Given the description of an element on the screen output the (x, y) to click on. 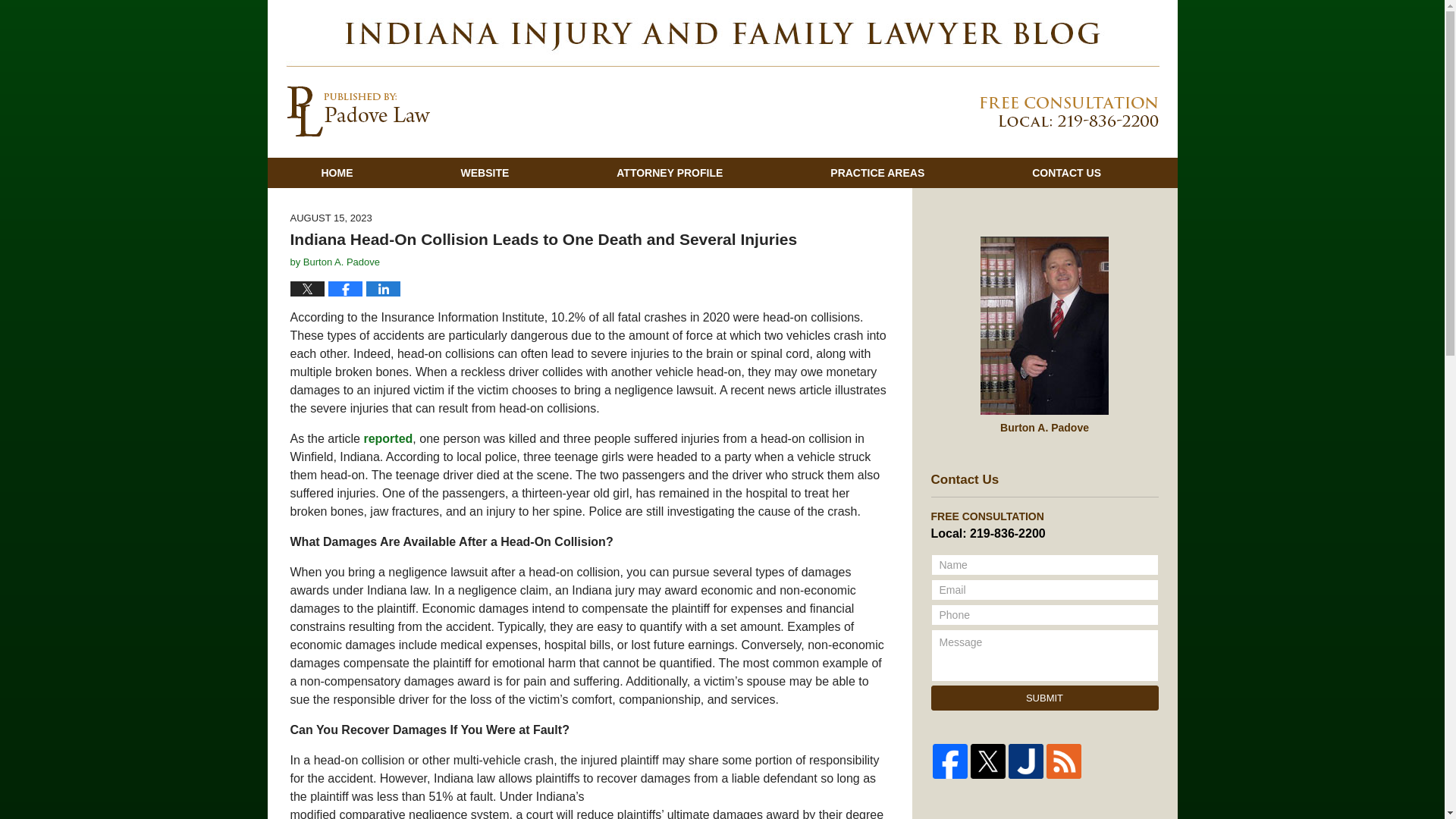
Twitter (988, 760)
Please enter a valid phone number. (1044, 614)
Justia (1026, 760)
Indiana Injury And Family Lawyer Blog (357, 111)
reported (387, 438)
WEBSITE (484, 173)
HOME (336, 173)
ATTORNEY PROFILE (669, 173)
SUBMIT (1044, 697)
PRACTICE AREAS (877, 173)
